Given the description of an element on the screen output the (x, y) to click on. 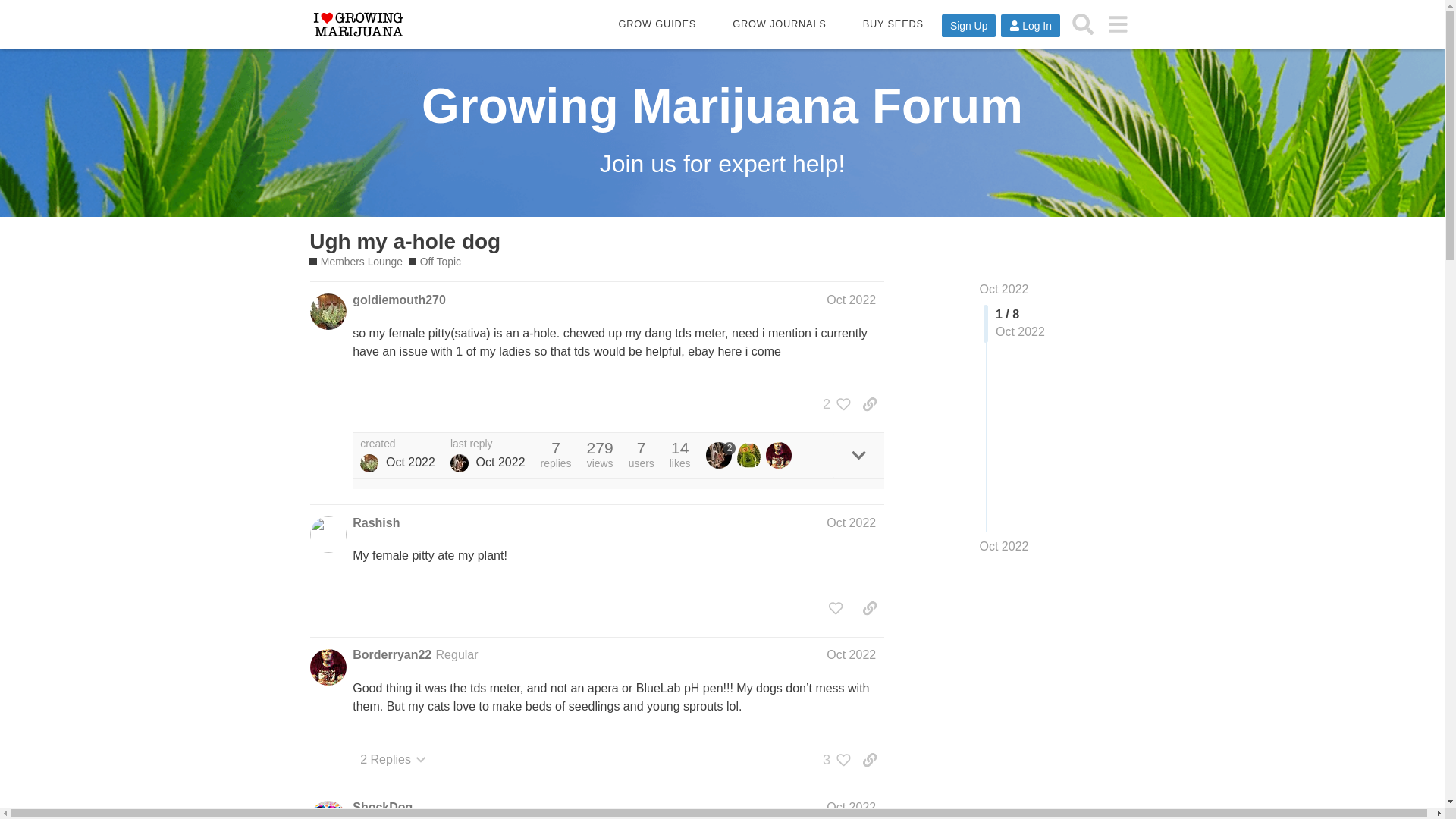
2 (721, 454)
expand topic details (857, 455)
BUY SEEDS (893, 24)
GROW JOURNALS (778, 24)
Log In (1030, 25)
Search (1082, 23)
Jump to the first post (1004, 288)
goldiemouth270 (398, 299)
GROW JOURNALS (778, 24)
menu (1117, 23)
Oct 2022 (1004, 546)
3 (832, 759)
2 Replies (392, 759)
Oct 24, 2022 6:24 pm (410, 461)
Rashish (375, 523)
